Given the description of an element on the screen output the (x, y) to click on. 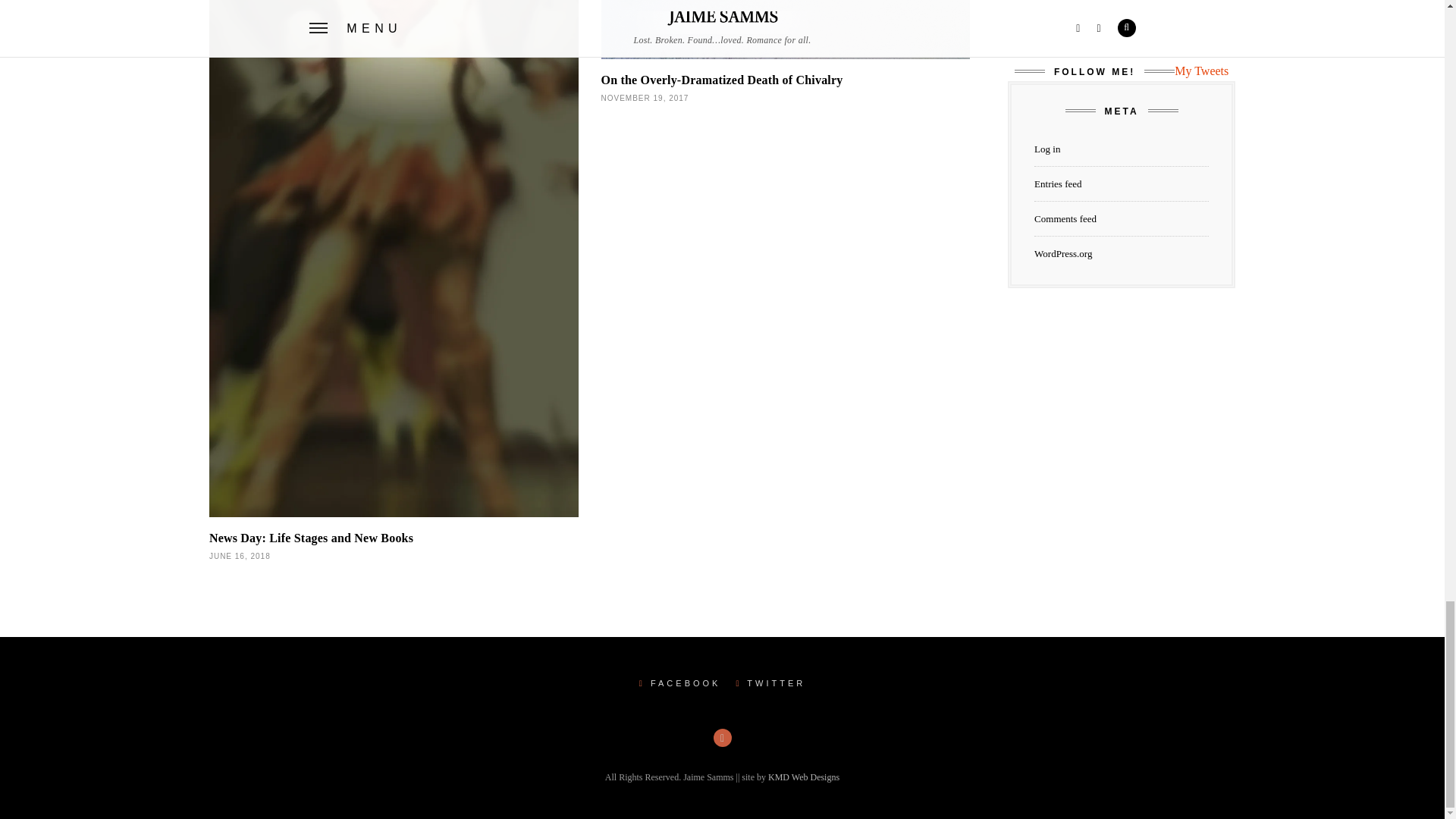
KMD Web Designs (804, 777)
